Given the description of an element on the screen output the (x, y) to click on. 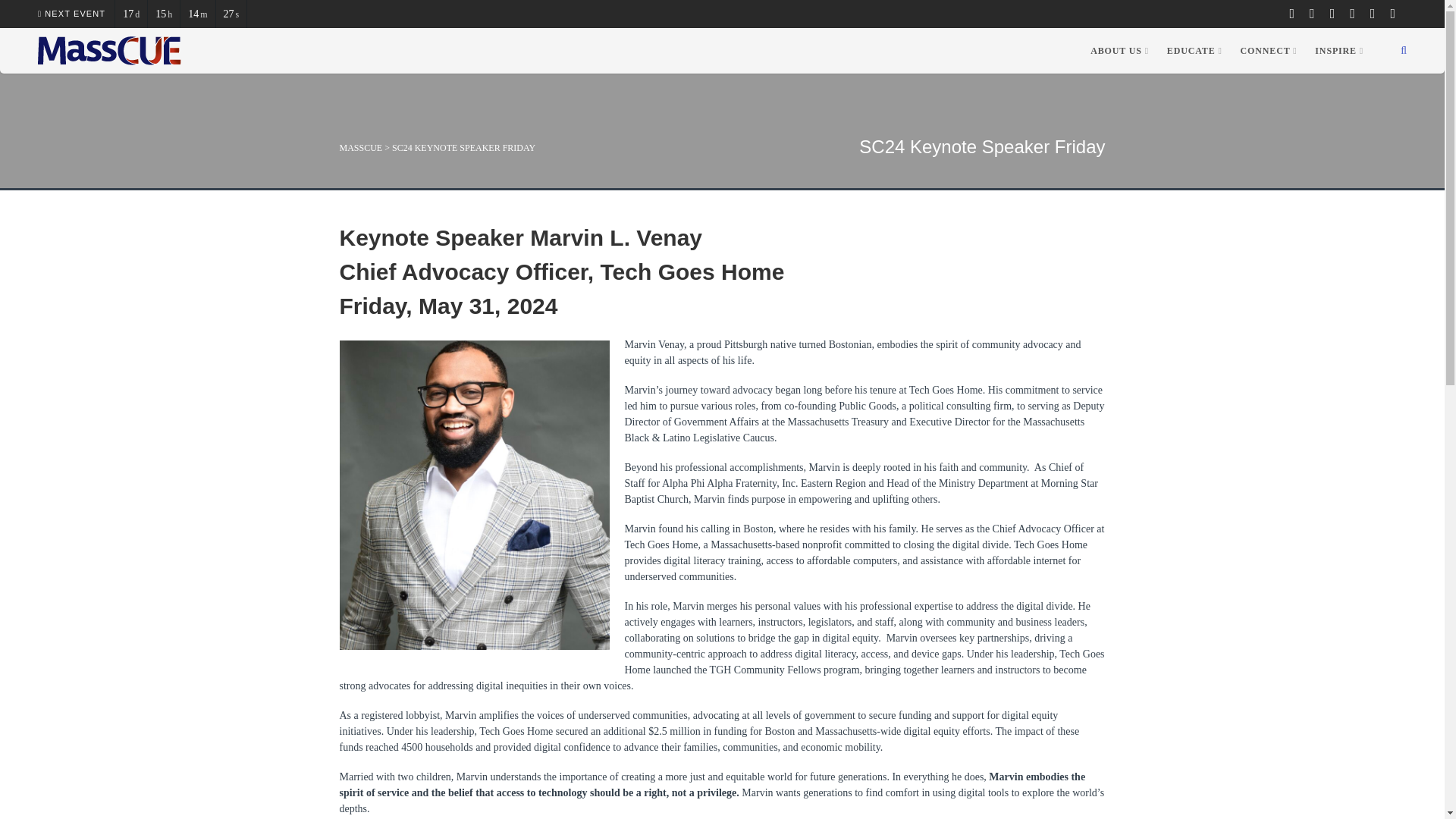
MassCUE (108, 50)
INSPIRE (1339, 50)
CONNECT (1268, 50)
EDUCATE (1194, 50)
ABOUT US (1119, 50)
Go to MassCUE. (360, 147)
